Given the description of an element on the screen output the (x, y) to click on. 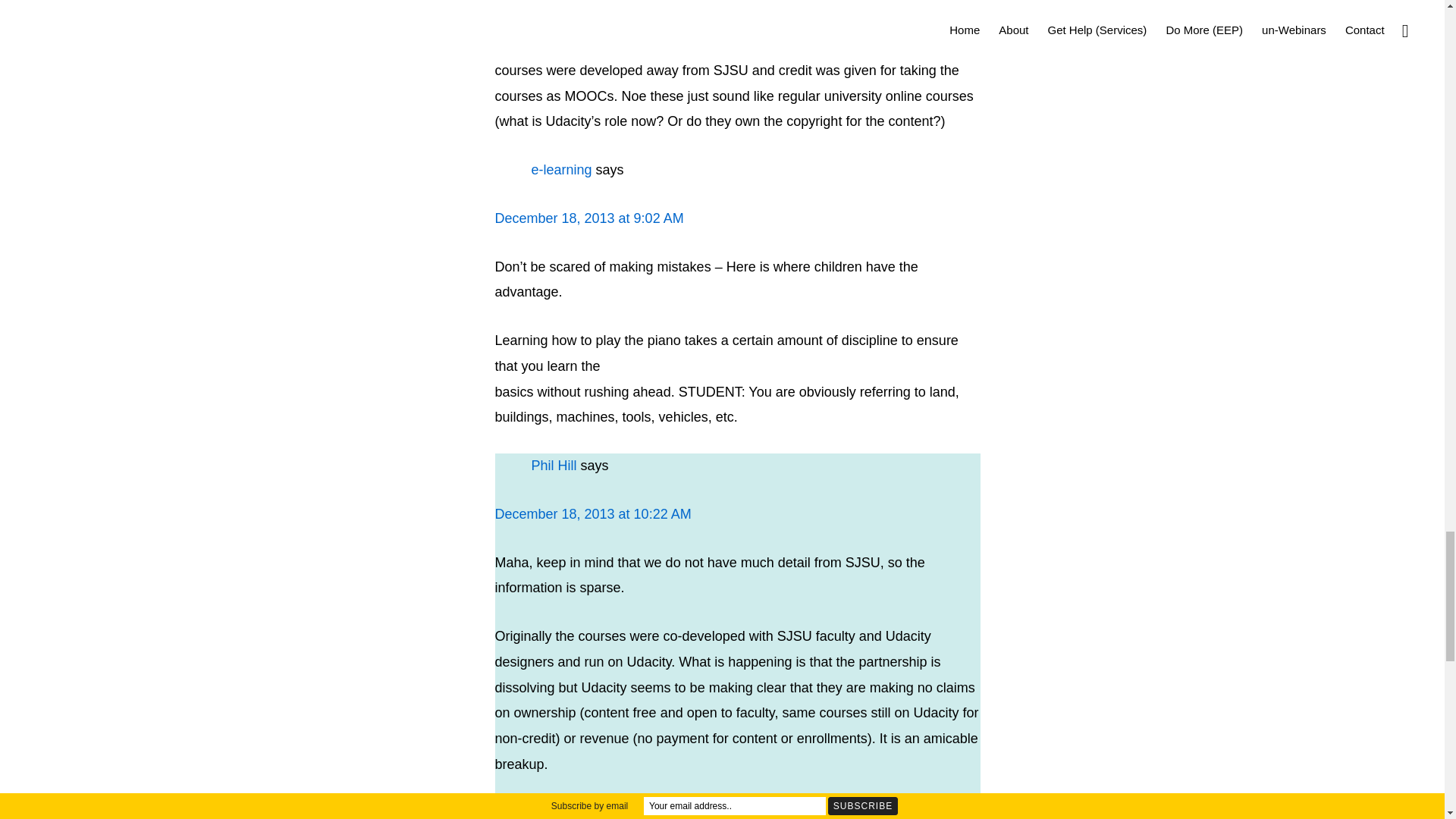
Phil Hill (553, 465)
e-learning (561, 169)
December 18, 2013 at 9:02 AM (588, 218)
